Given the description of an element on the screen output the (x, y) to click on. 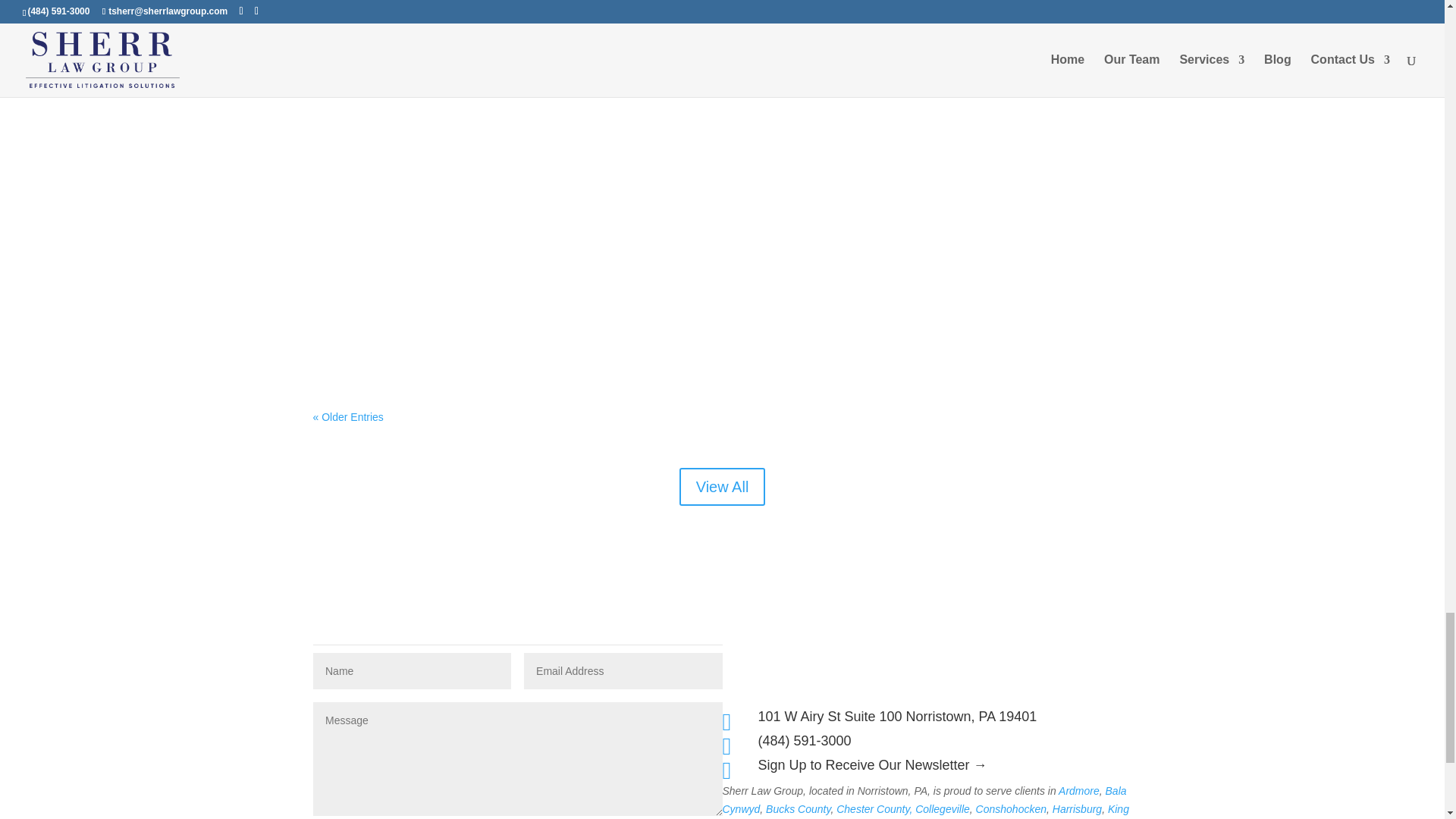
Follow on Facebook (895, 644)
Follow on X (926, 644)
Follow on LinkedIn (956, 644)
